Given the description of an element on the screen output the (x, y) to click on. 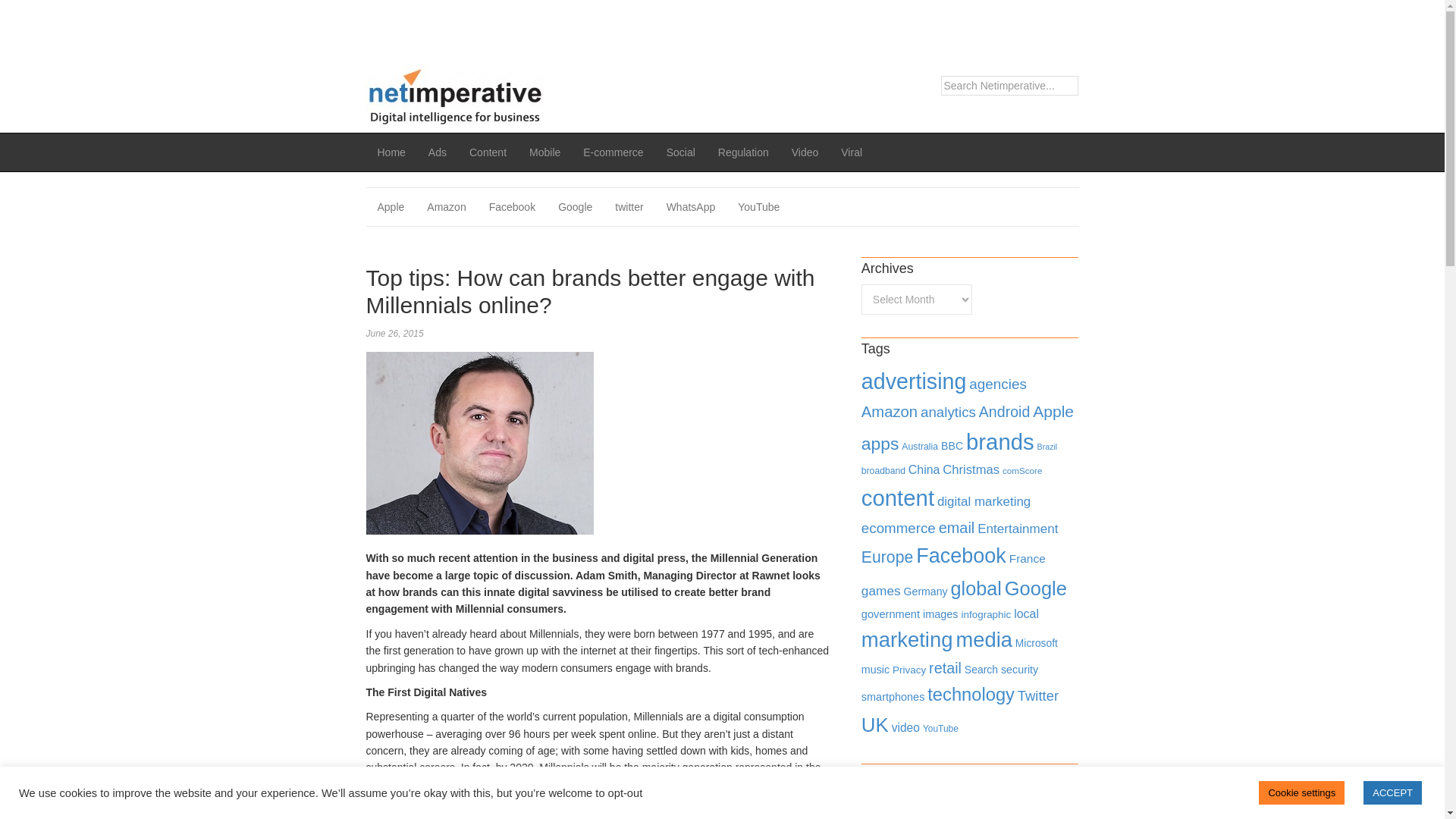
advertising (913, 381)
Content (488, 152)
Video (804, 152)
Amazon (445, 207)
WhatsApp (690, 207)
agencies (997, 383)
YouTube (758, 207)
Android (1003, 411)
Australia (919, 446)
Video (804, 152)
